Given the description of an element on the screen output the (x, y) to click on. 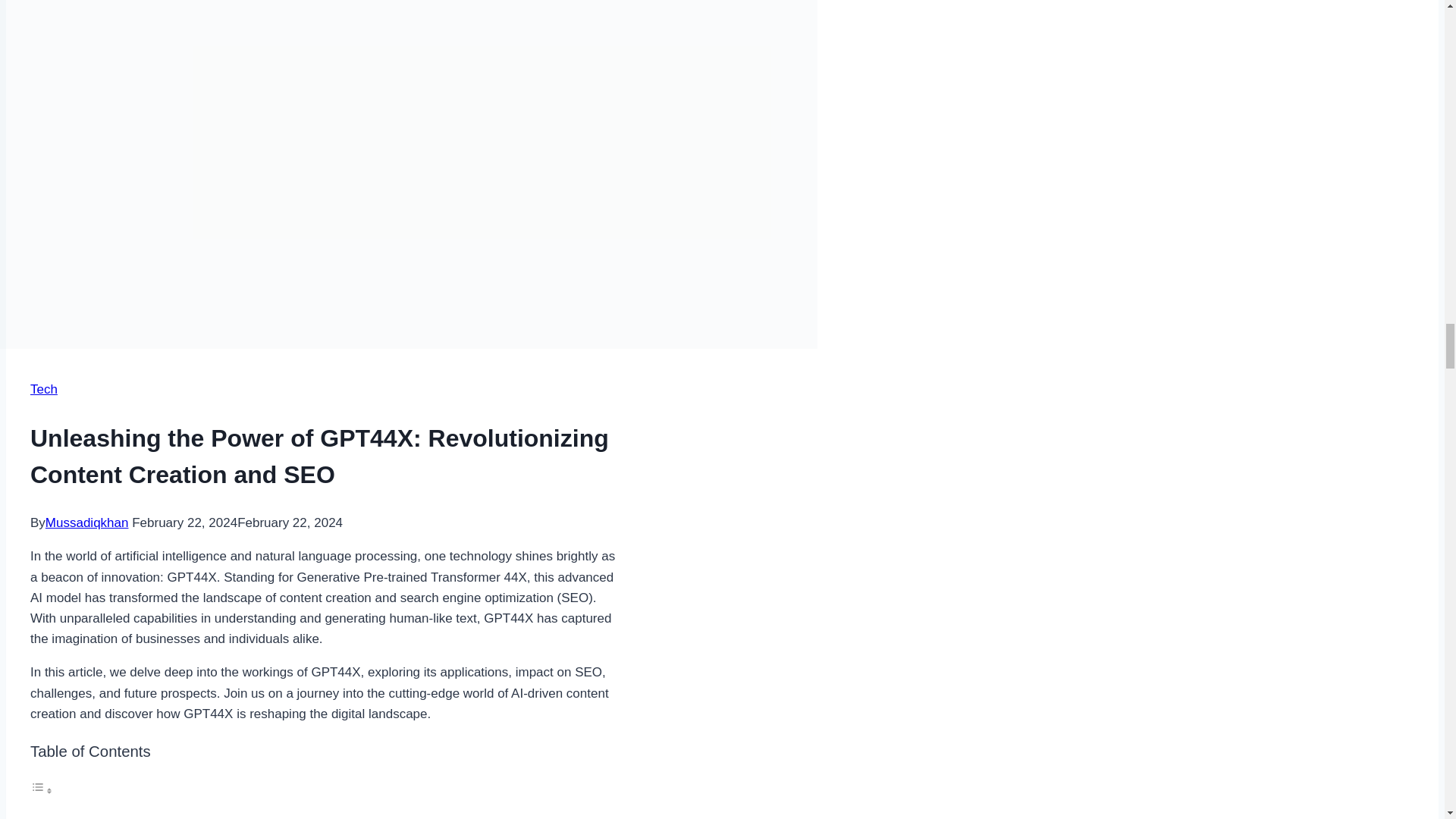
What is GPT44X? (122, 817)
Mussadiqkhan (87, 522)
Tech (44, 389)
What is GPT44X? (122, 817)
